Given the description of an element on the screen output the (x, y) to click on. 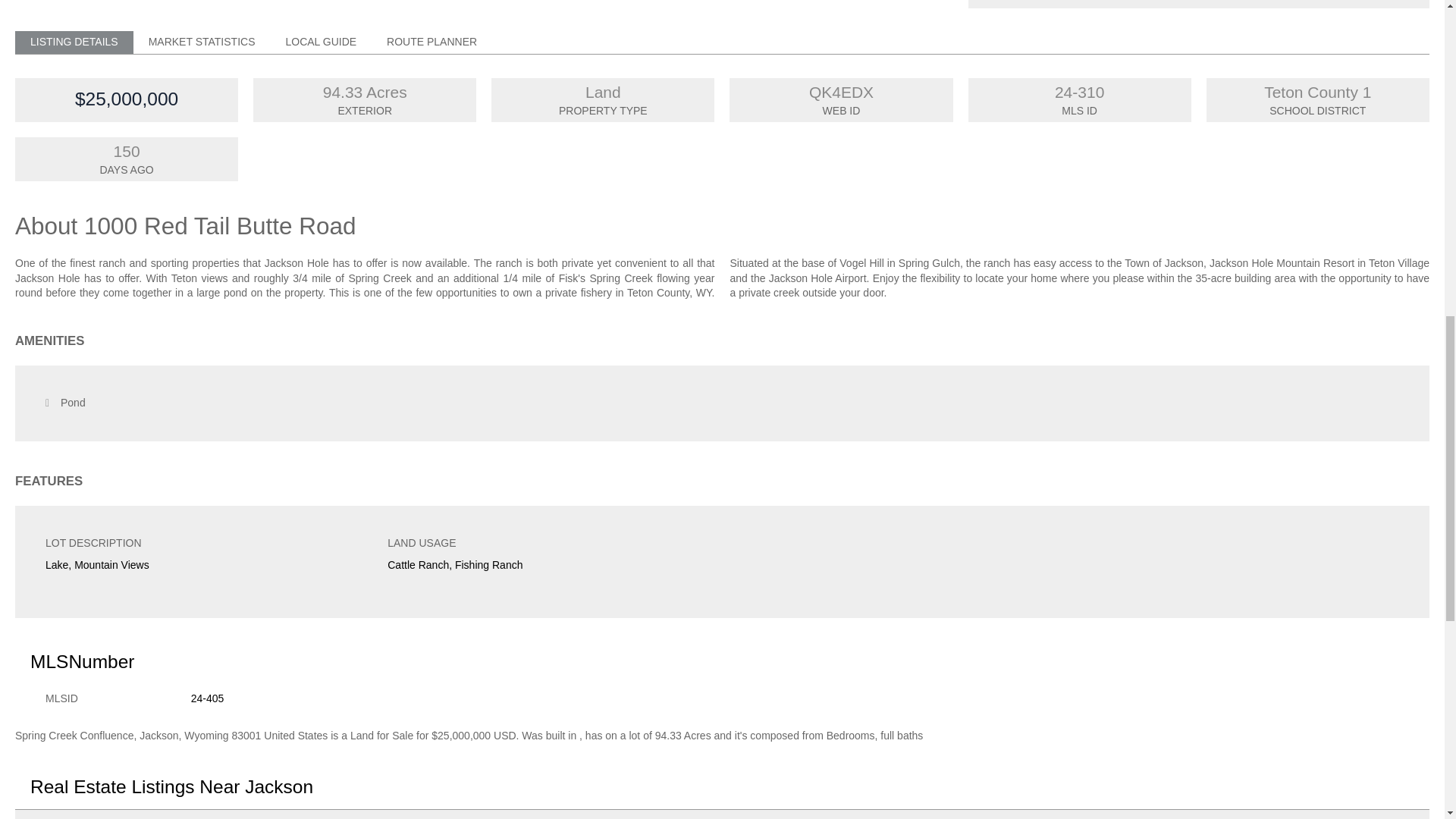
LISTING DETAILS MARKET STATISTICS LOCAL GUIDE ROUTE PLANNER (721, 42)
Market Statistics (201, 42)
Route Planner (431, 42)
ROUTE PLANNER (431, 42)
MARKET STATISTICS (201, 42)
LISTING DETAILS MARKET STATISTICS LOCAL GUIDE ROUTE PLANNER (721, 42)
LOCAL GUIDE (320, 42)
Local Guide (320, 42)
